Given the description of an element on the screen output the (x, y) to click on. 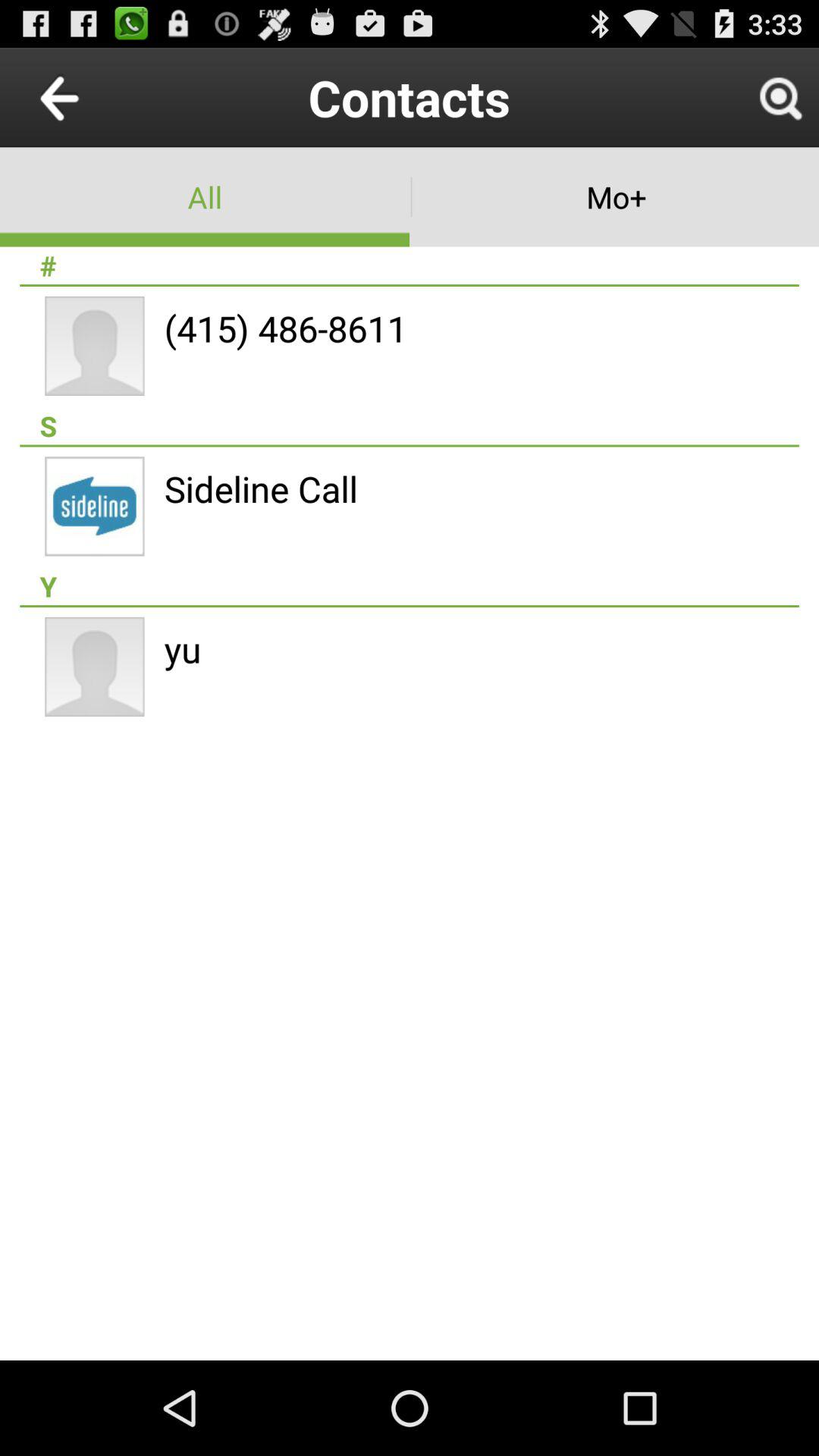
look clser icon (779, 97)
